Given the description of an element on the screen output the (x, y) to click on. 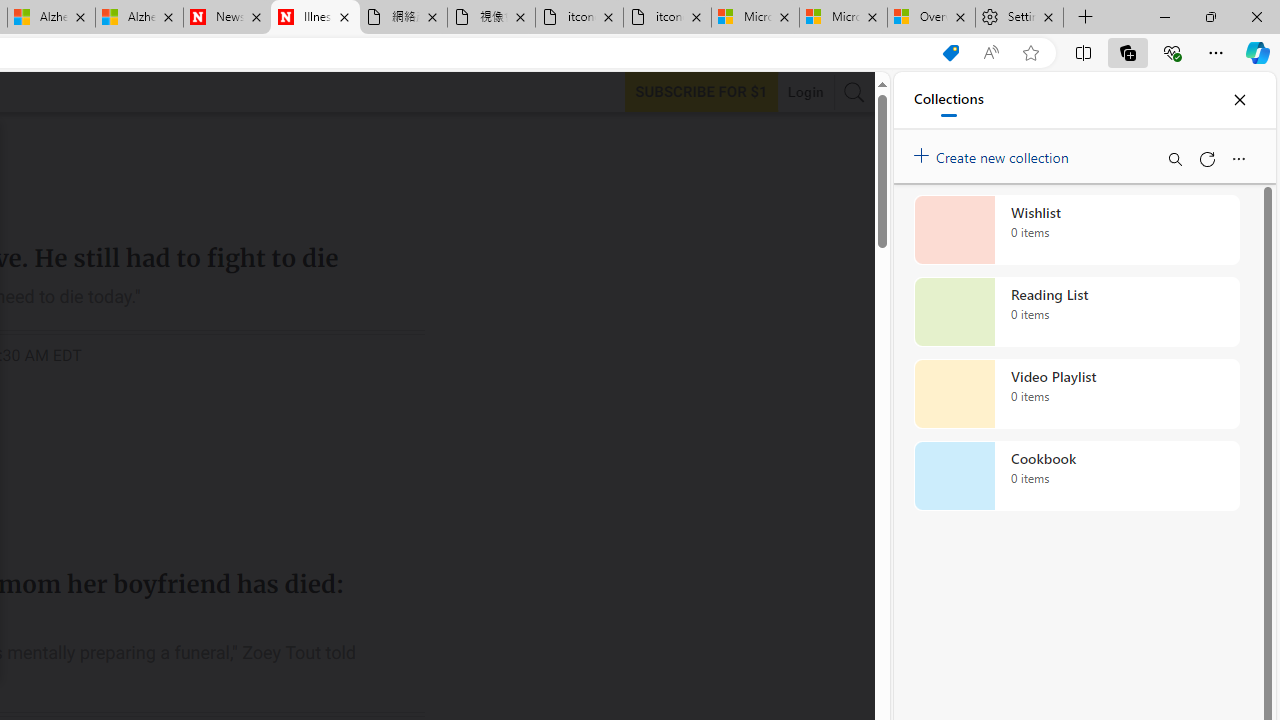
Newsweek - News, Analysis, Politics, Business, Technology (227, 17)
Video Playlist collection, 0 items (1076, 394)
